Given the description of an element on the screen output the (x, y) to click on. 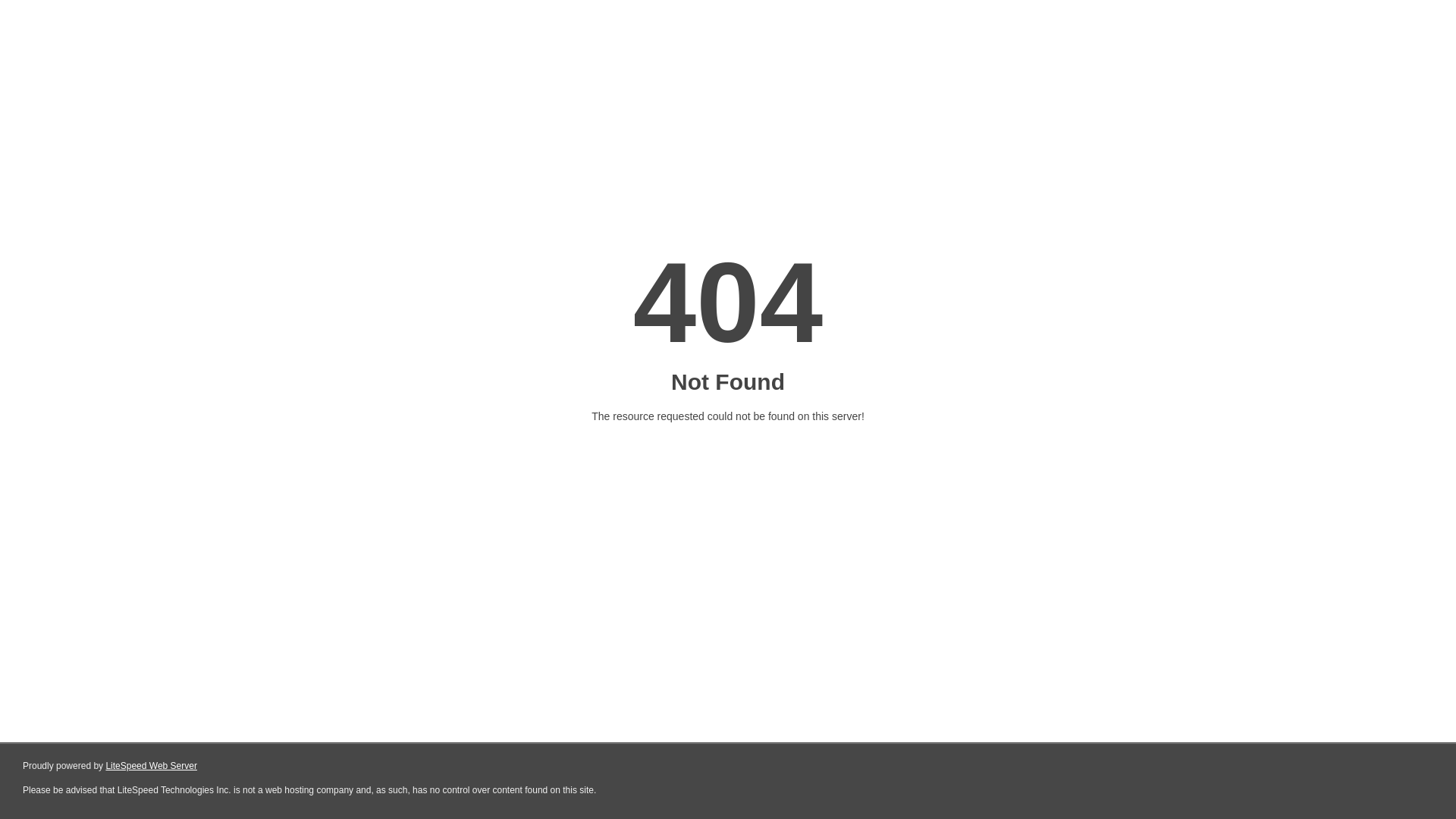
LiteSpeed Web Server (150, 765)
